Given the description of an element on the screen output the (x, y) to click on. 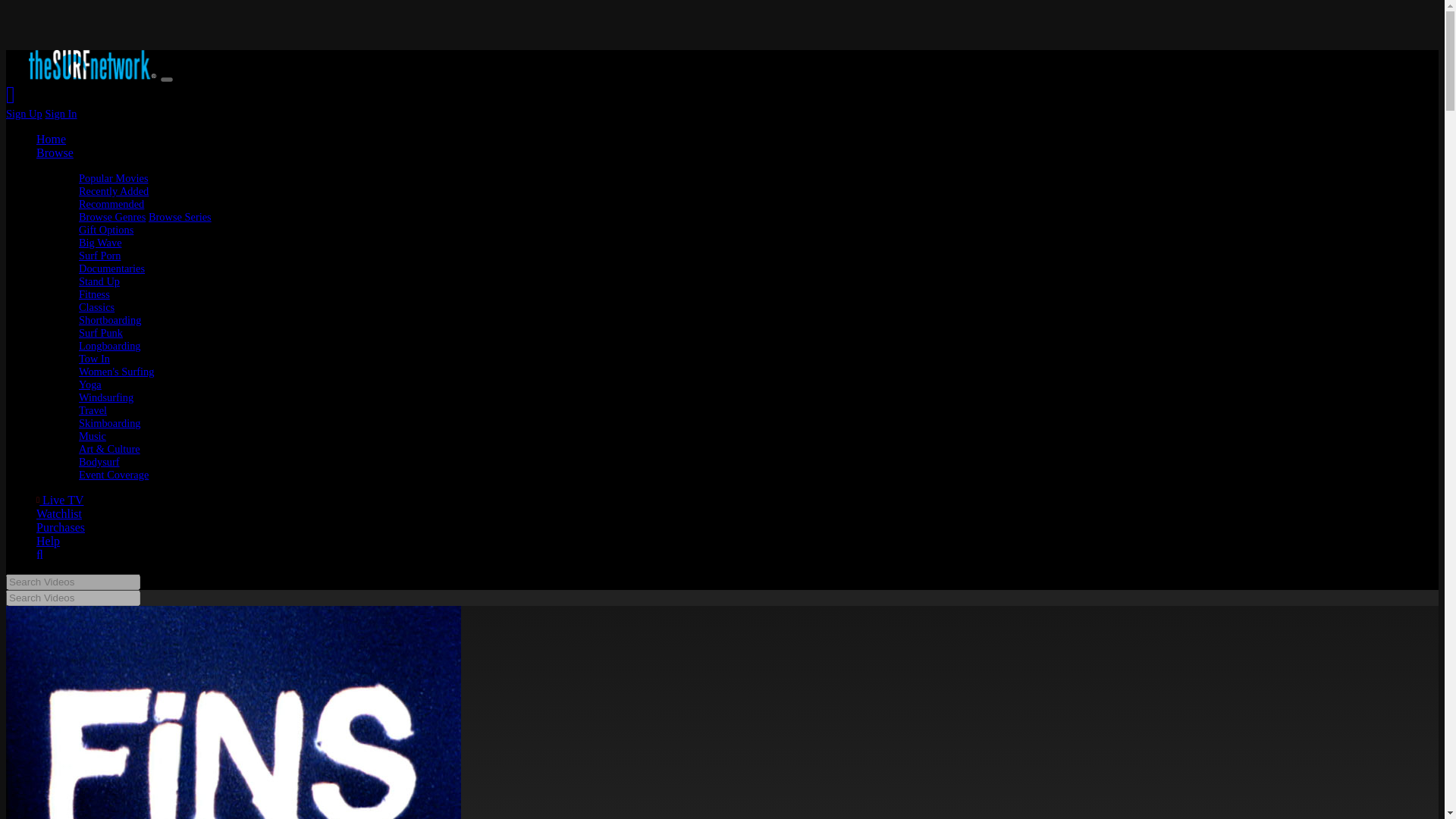
Help (47, 525)
Purchases (60, 512)
Browse Genres (111, 201)
Shortboarding (109, 304)
Watchlist (58, 498)
Bodysurf (98, 446)
Browse Series (179, 201)
Browse (55, 137)
Women's Surfing (116, 356)
Recommended (111, 188)
Longboarding (109, 330)
Stand Up (98, 265)
Sign Up (23, 98)
Gift Options (105, 214)
Big Wave (100, 227)
